Given the description of an element on the screen output the (x, y) to click on. 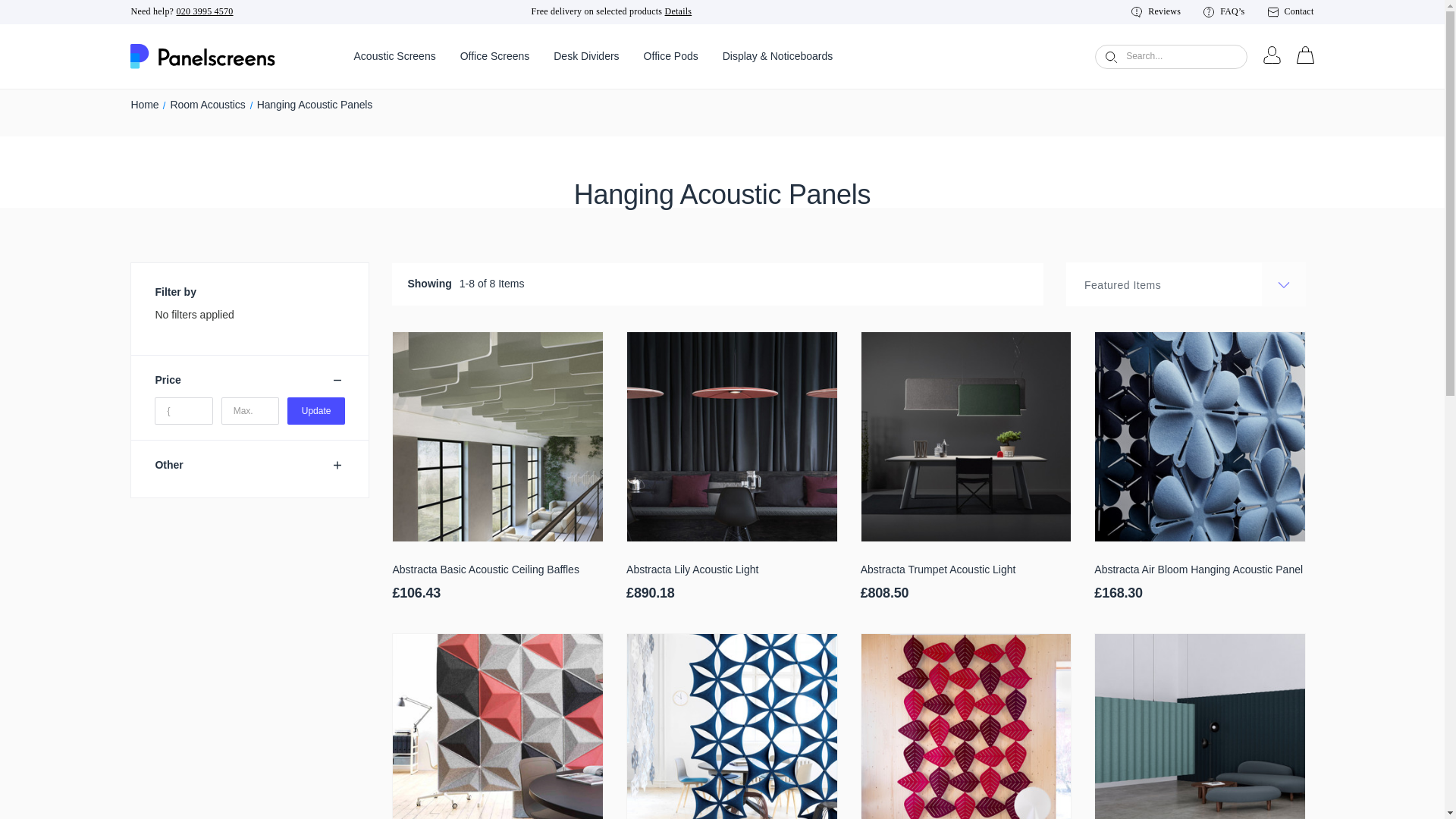
Reviews (1155, 11)
Office Screens (494, 56)
Delivery Information (679, 10)
Acoustic Screens (394, 56)
020 3995 4570 (204, 10)
Details (679, 10)
Contact (1291, 11)
Panel Screens (203, 56)
